Given the description of an element on the screen output the (x, y) to click on. 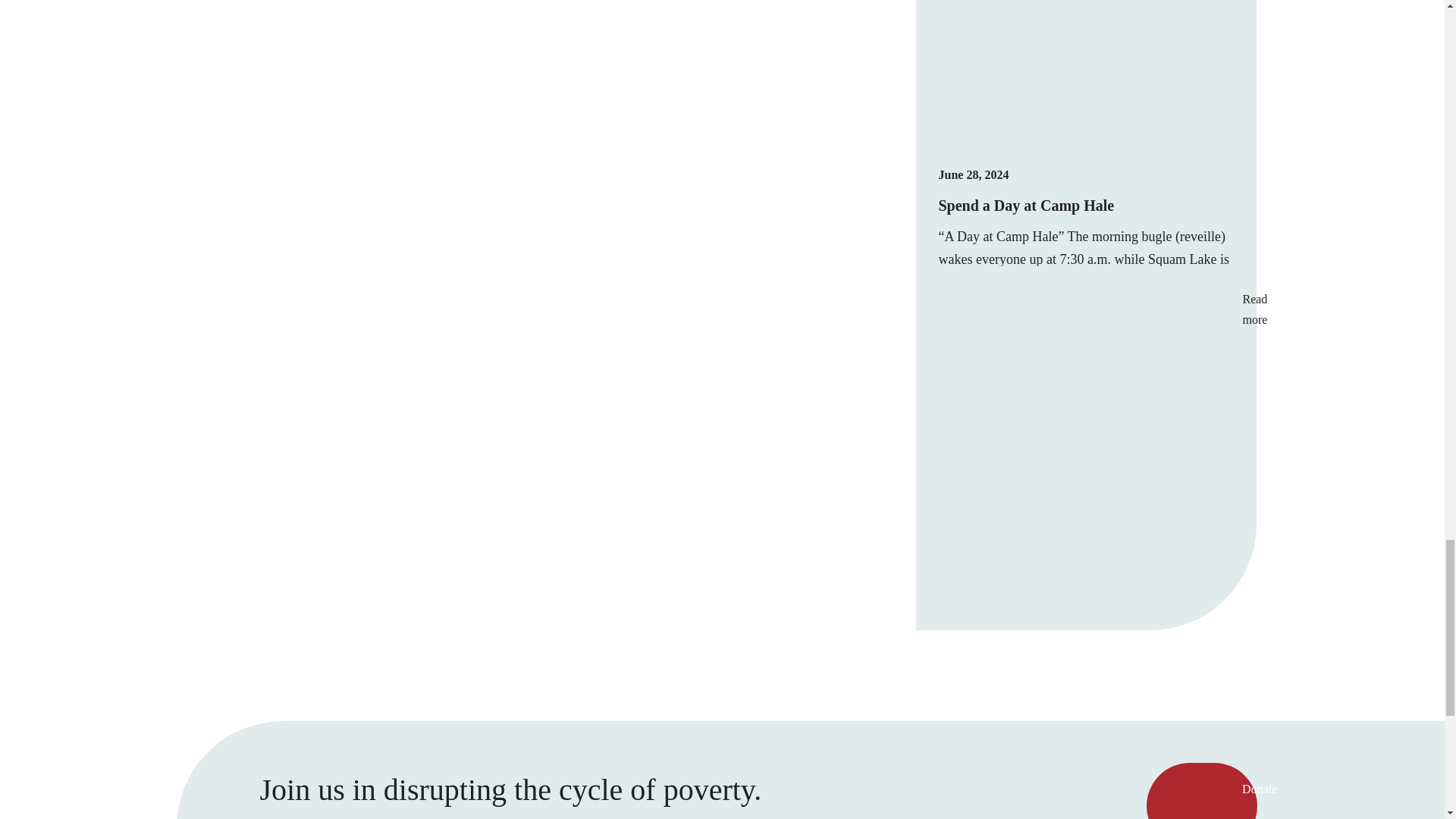
Read more (1086, 436)
Donate (1202, 790)
Spend a Day at Camp Hale (1027, 205)
